Given the description of an element on the screen output the (x, y) to click on. 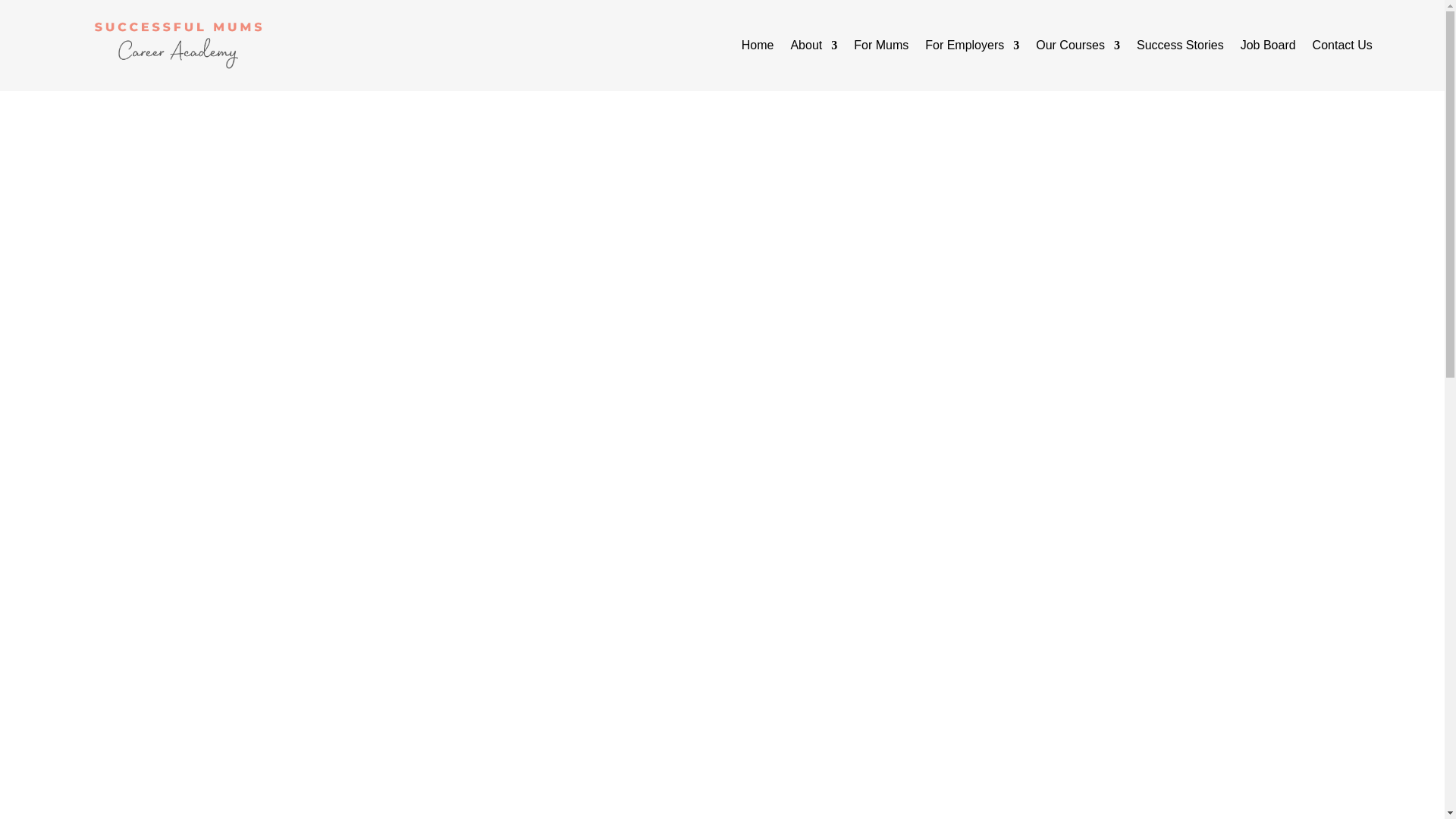
Job Board (1267, 48)
Home (757, 48)
About (813, 48)
RGB-Full-SMCA-FULL (177, 45)
Contact Us (1343, 48)
For Mums (880, 48)
For Employers (971, 48)
Our Courses (1077, 48)
Success Stories (1180, 48)
